Given the description of an element on the screen output the (x, y) to click on. 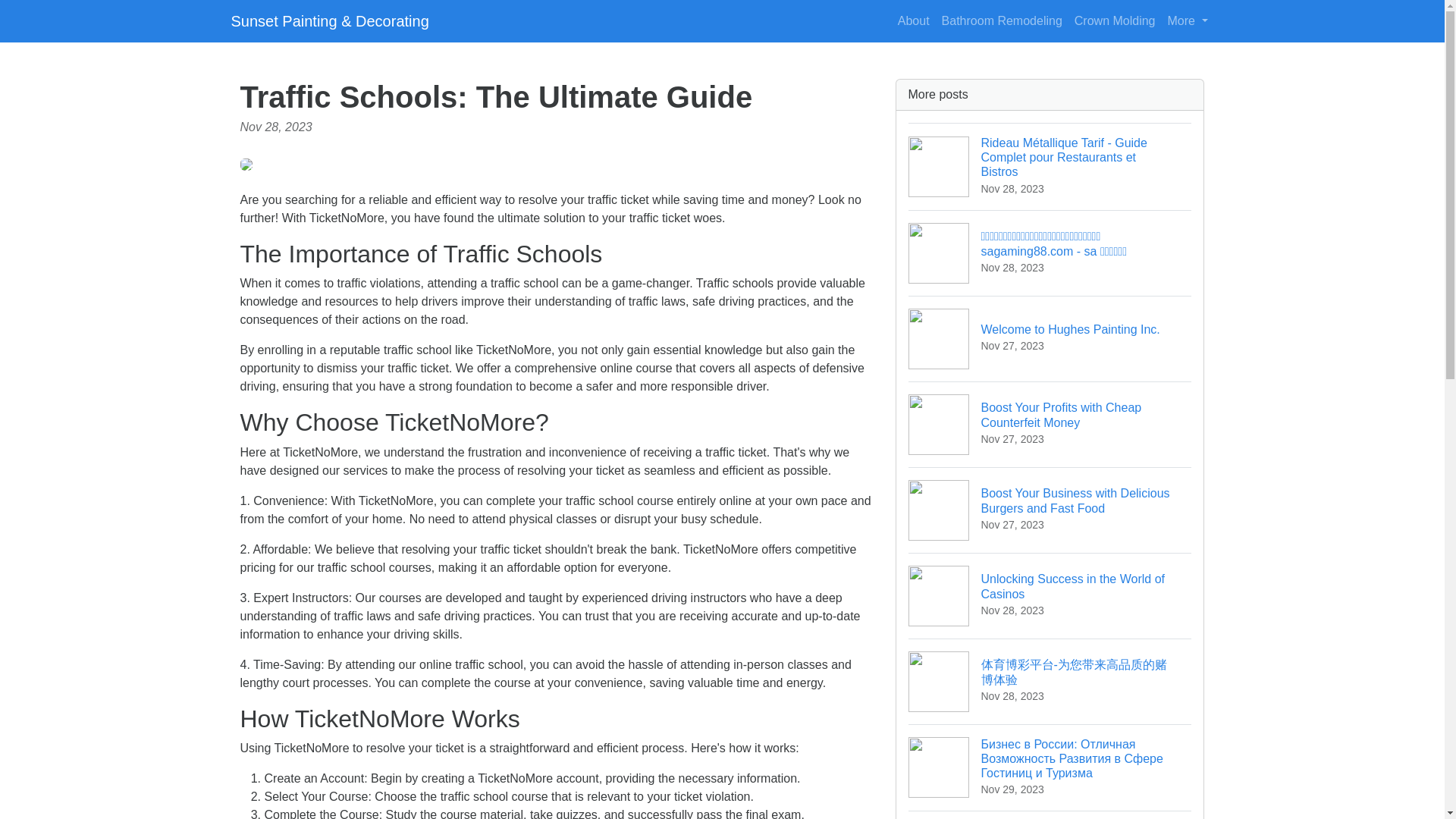
More (1187, 20)
Crown Molding (1114, 20)
Bathroom Remodeling (1002, 20)
About (1050, 338)
